Given the description of an element on the screen output the (x, y) to click on. 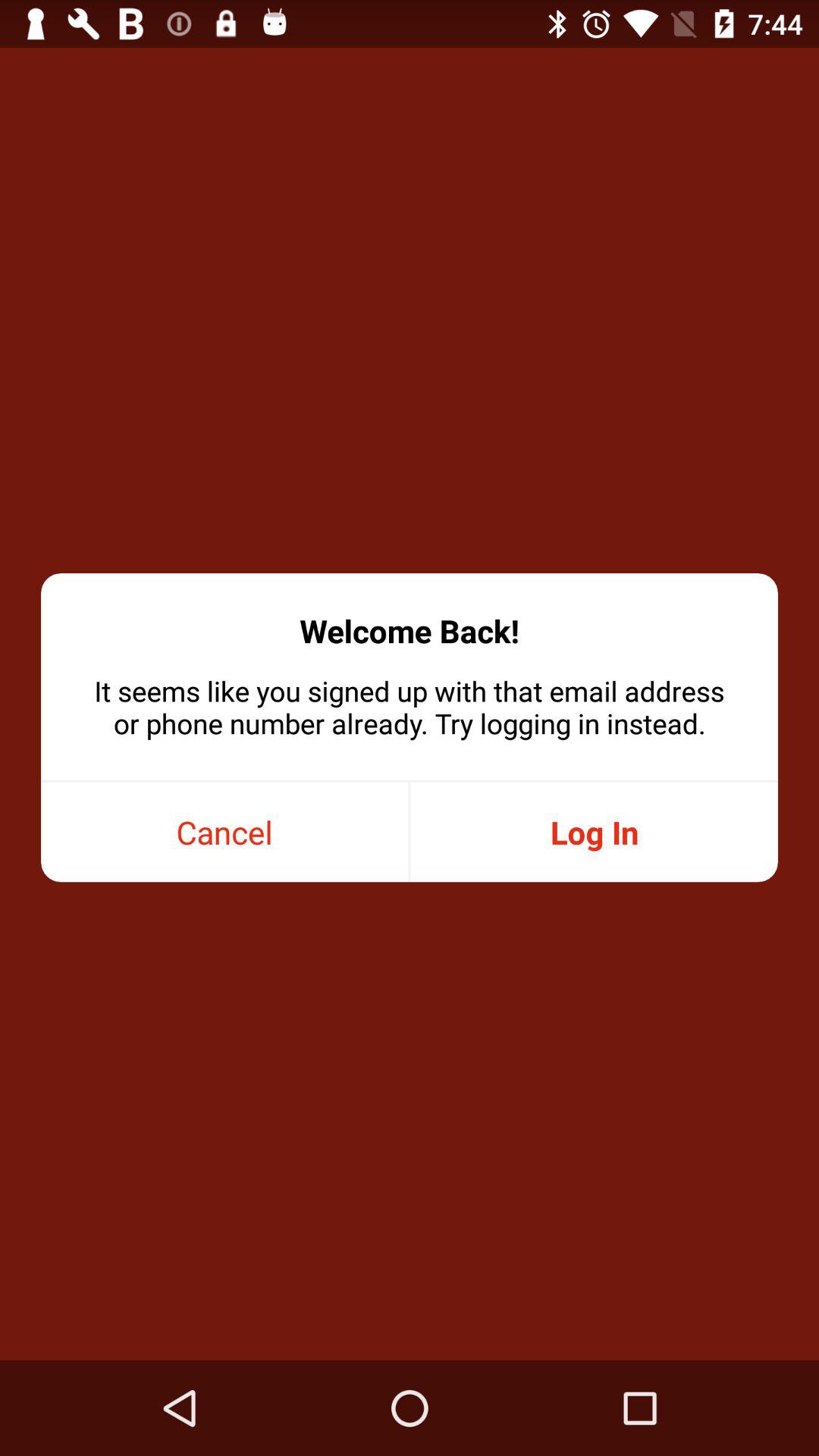
scroll to cancel (224, 832)
